Given the description of an element on the screen output the (x, y) to click on. 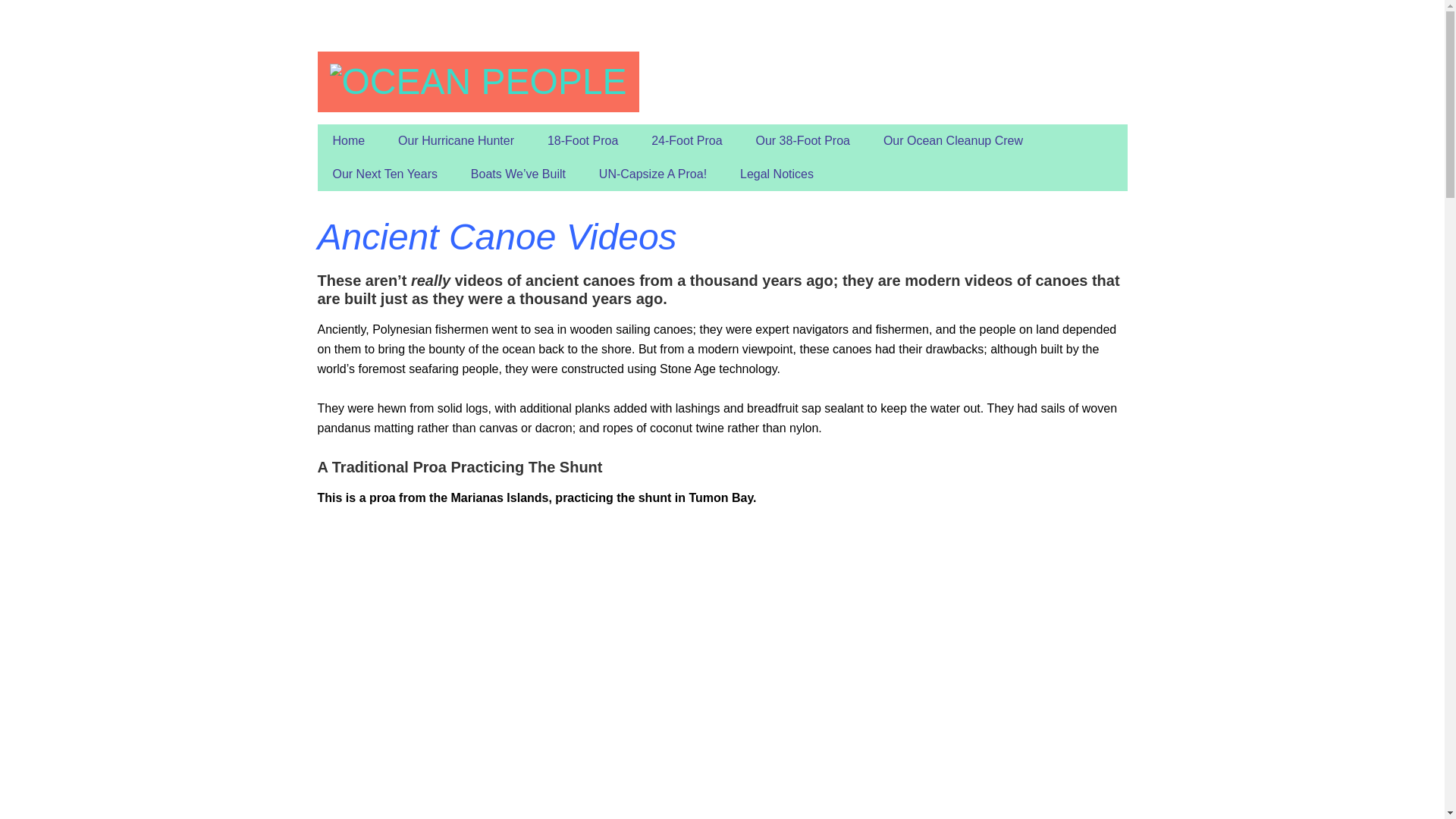
Home (348, 141)
18-Foot Proa (582, 141)
Legal Notices (776, 174)
Our Ocean Cleanup Crew (952, 141)
Our Hurricane Hunter (455, 141)
Our Next Ten Years (384, 174)
Our 38-Foot Proa (801, 141)
Ocean People (477, 81)
UN-Capsize A Proa! (652, 174)
Ocean People (478, 81)
24-Foot Proa (686, 141)
